Given the description of an element on the screen output the (x, y) to click on. 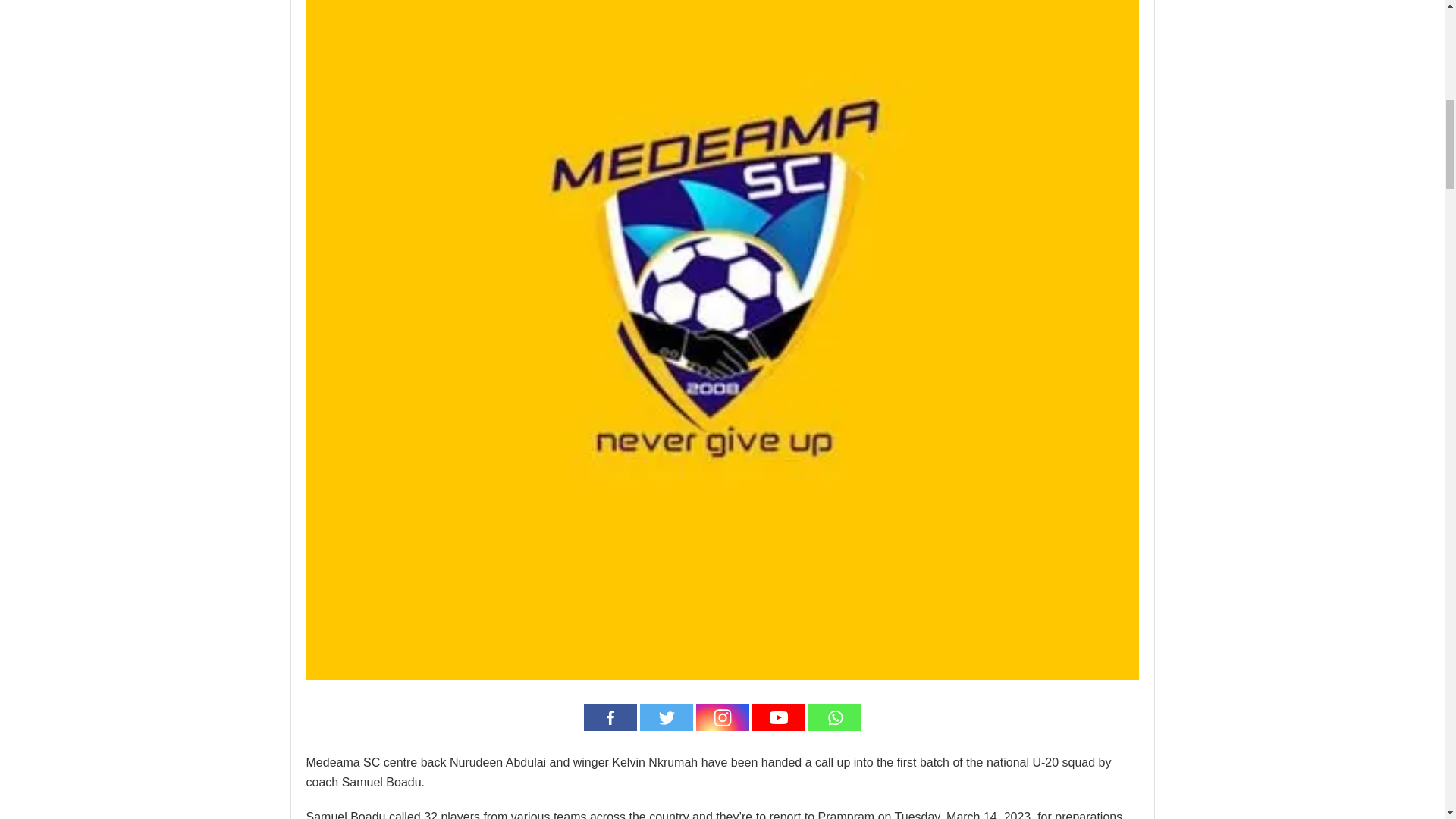
Facebook (610, 717)
Whatsapp (834, 717)
Twitter (666, 717)
Youtube (778, 717)
Instagram (722, 717)
